Given the description of an element on the screen output the (x, y) to click on. 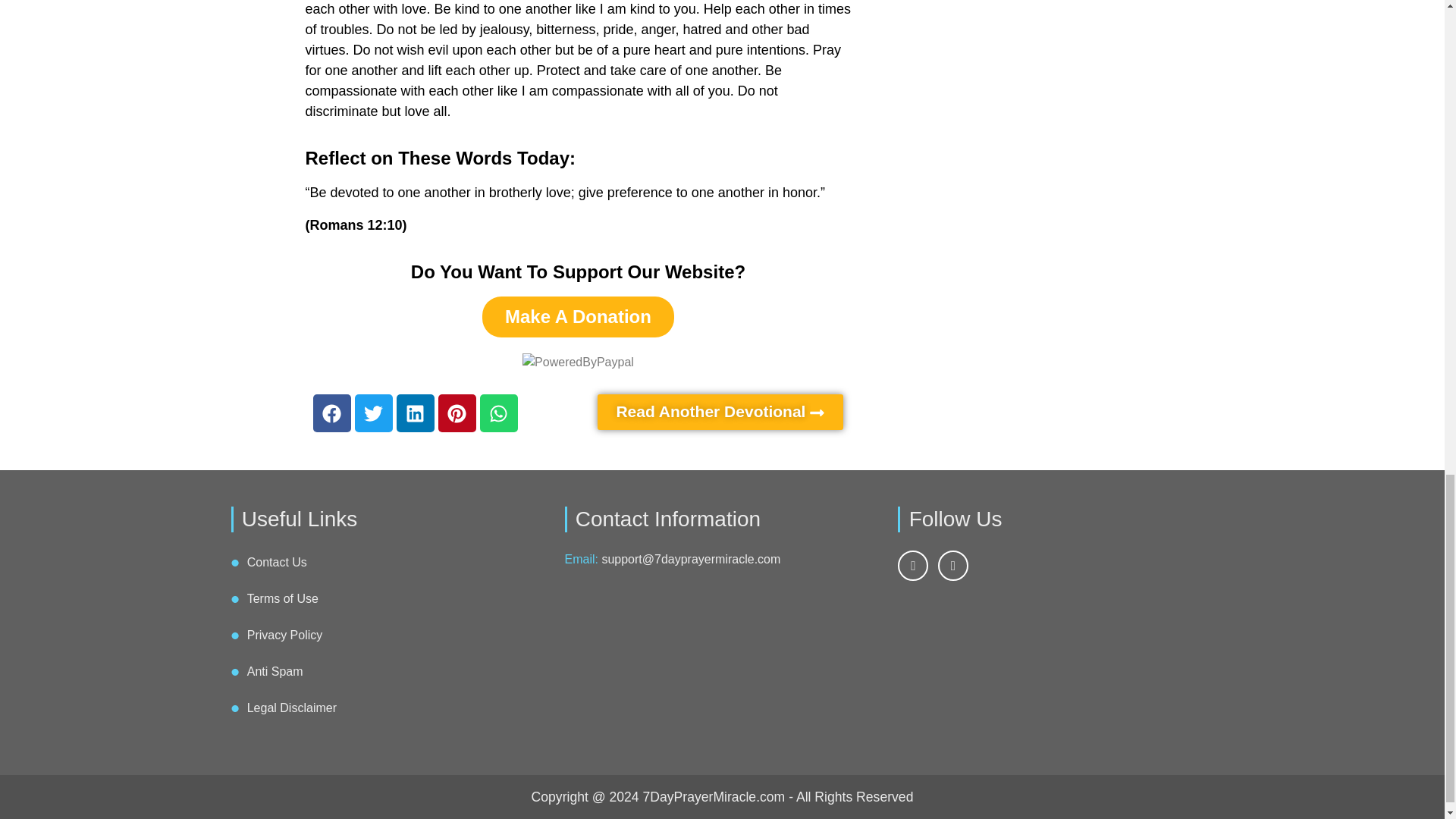
Make A Donation (577, 316)
Privacy Policy (285, 635)
Terms of Use (282, 598)
Contact Us (277, 562)
Anti Spam (274, 671)
Legal Disclaimer (291, 708)
PoweredByPaypal (577, 361)
Read Another Devotional (719, 411)
